Given the description of an element on the screen output the (x, y) to click on. 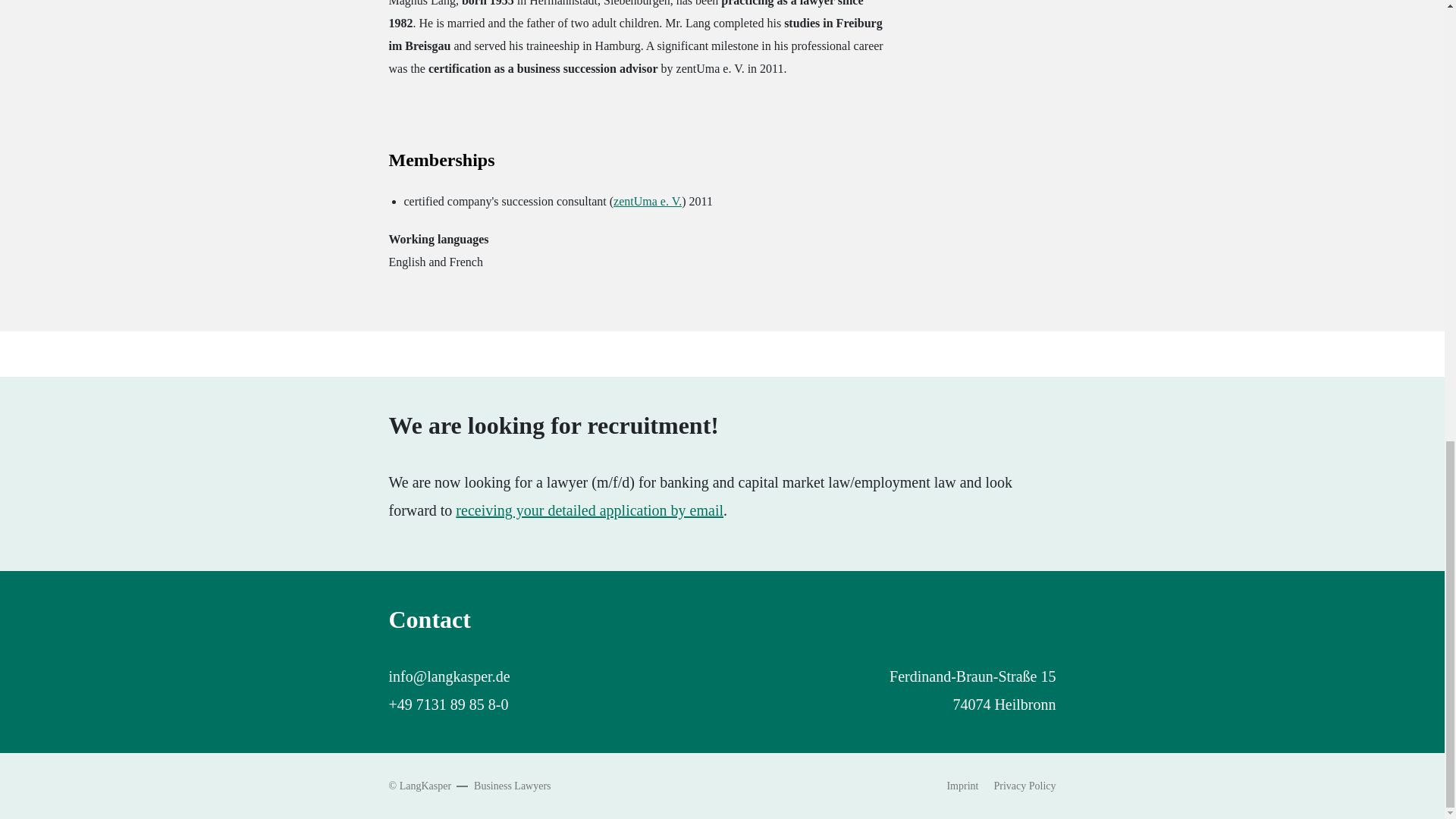
Privacy Policy (1023, 785)
Imprint (962, 785)
receiving your detailed application by email (589, 510)
zentUma e. V. (646, 201)
